Given the description of an element on the screen output the (x, y) to click on. 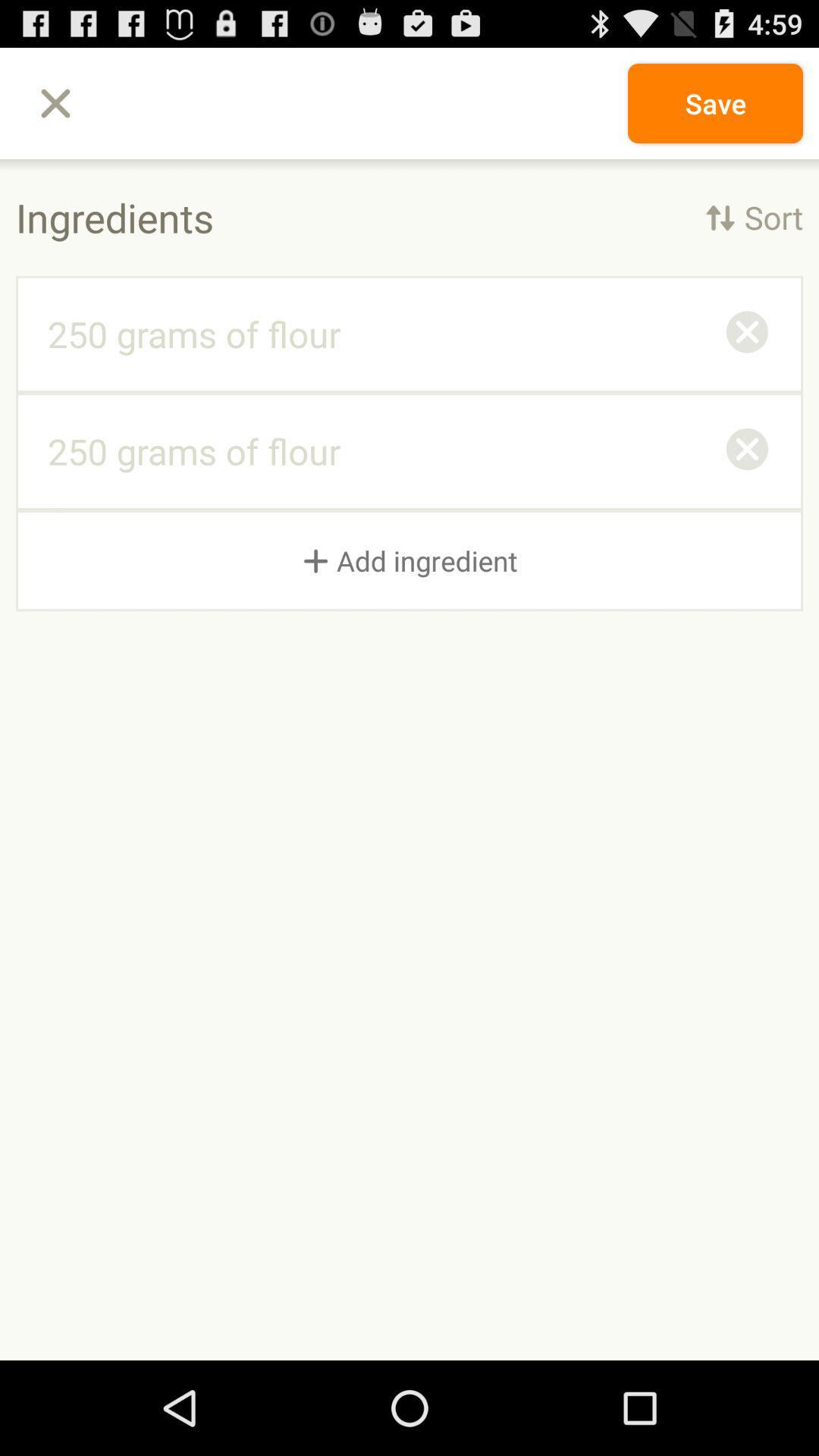
turn off icon next to the ingredients item (753, 216)
